Given the description of an element on the screen output the (x, y) to click on. 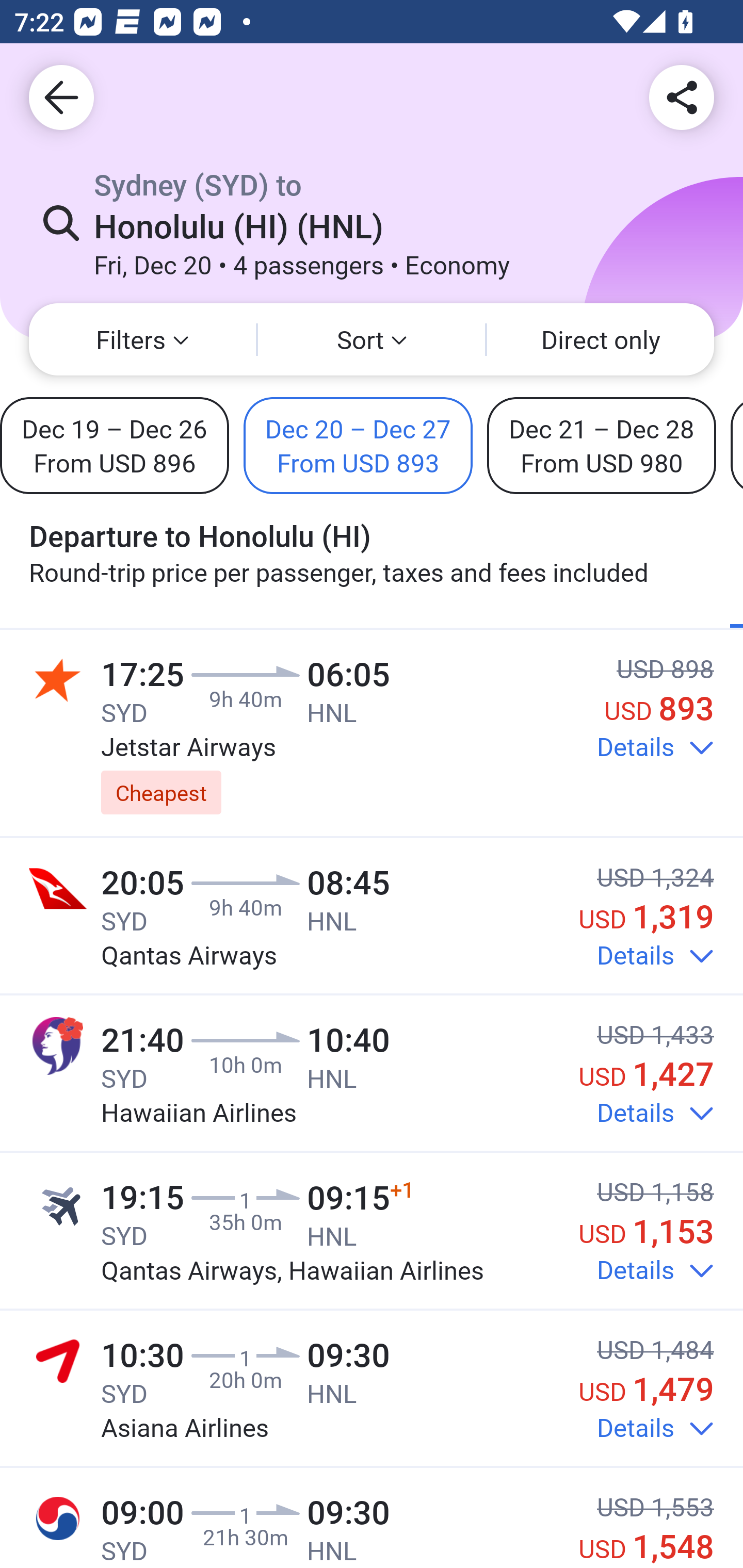
Filters (141, 339)
Sort (371, 339)
Direct only (600, 339)
Dec 19 – Dec 26 From USD 896 (114, 444)
Dec 20 – Dec 27 From USD 893 (357, 444)
Dec 21 – Dec 28 From USD 980 (601, 444)
